Given the description of an element on the screen output the (x, y) to click on. 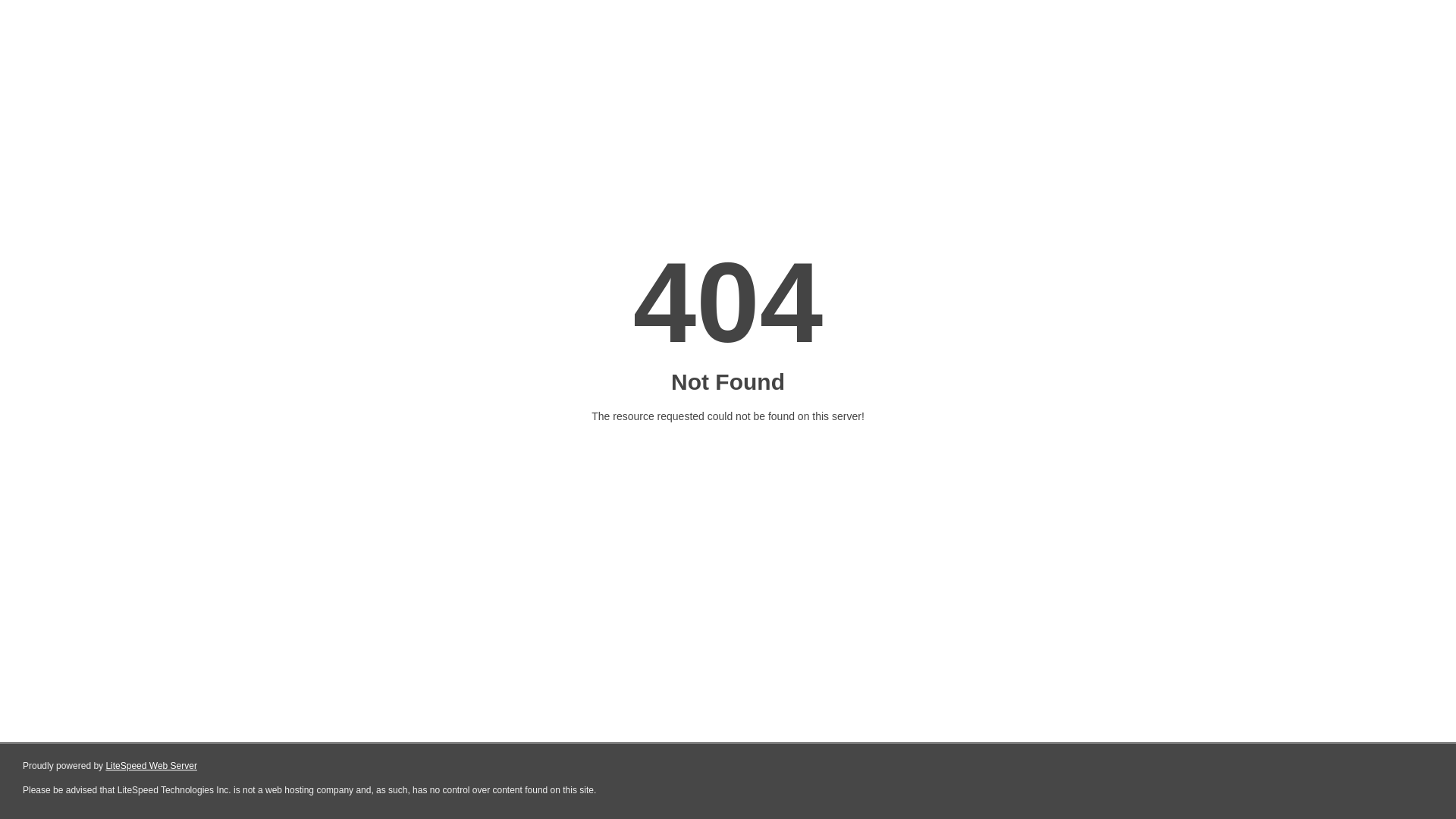
LiteSpeed Web Server Element type: text (151, 765)
